Given the description of an element on the screen output the (x, y) to click on. 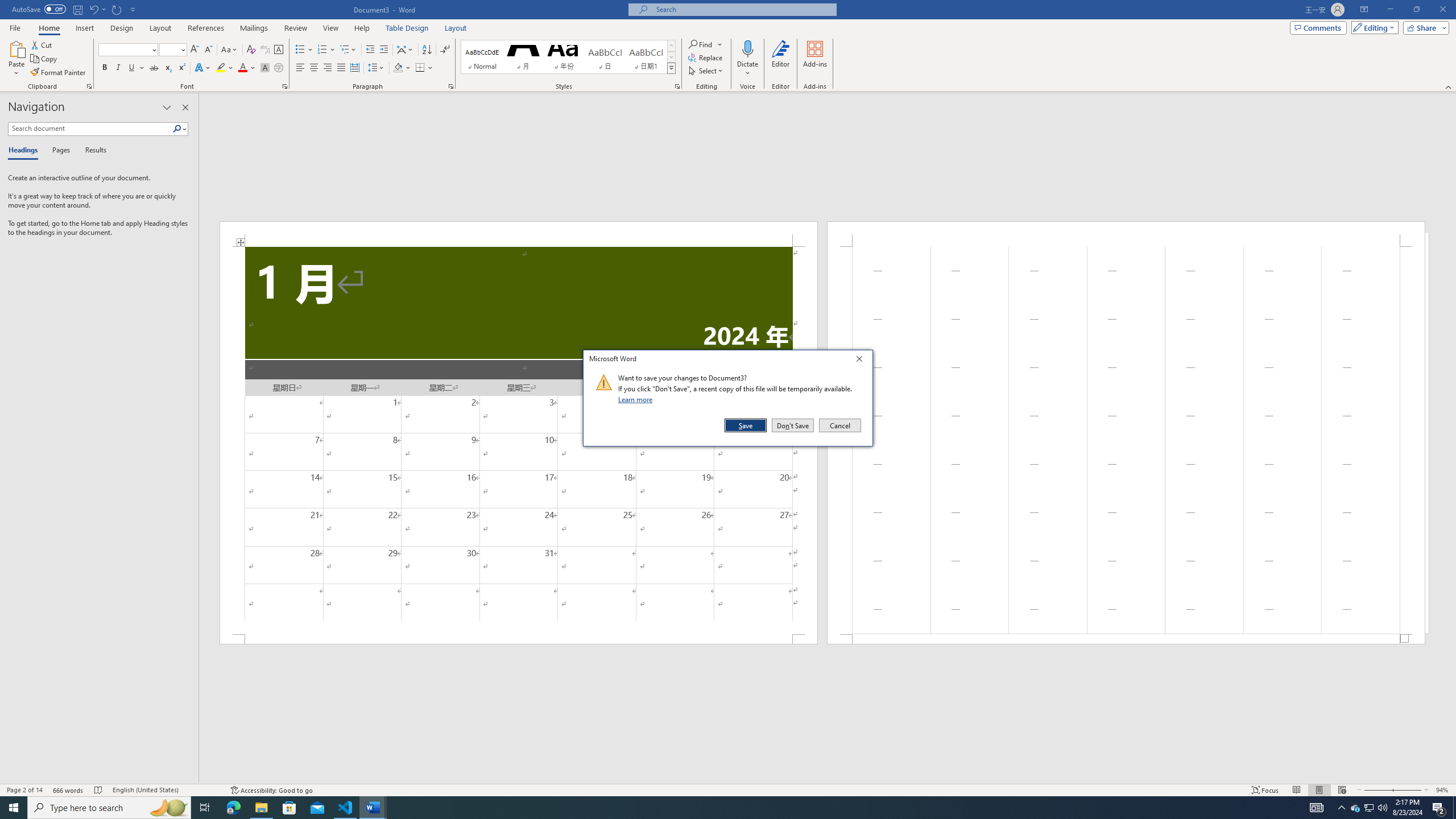
Word Count 666 words (68, 790)
Undo Apply Quick Style (96, 9)
Cancel (839, 425)
